Given the description of an element on the screen output the (x, y) to click on. 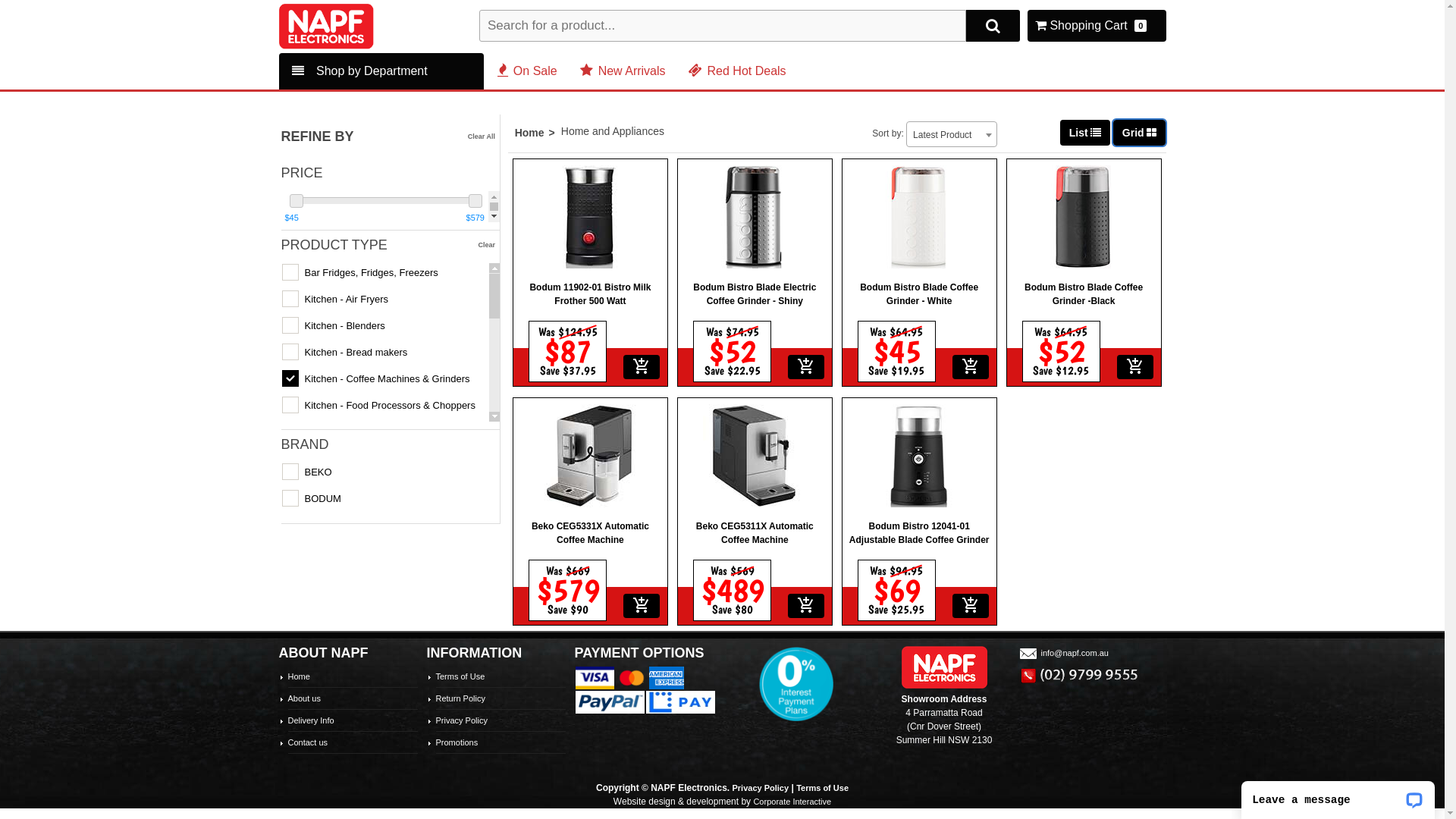
Terms of Use Element type: text (459, 675)
Privacy Policy Element type: text (760, 787)
Delivery Info Element type: text (311, 719)
add_shopping_cart Element type: text (641, 366)
Home Element type: text (537, 132)
Bodum Bistro 12041-01 Adjustable Blade Coffee Grinder Element type: text (919, 495)
Terms of Use Element type: text (822, 787)
Promotions Element type: text (456, 741)
add_shopping_cart Element type: text (1134, 366)
Privacy Policy Element type: text (460, 719)
add_shopping_cart Element type: text (805, 366)
New Arrivals Element type: text (622, 70)
add_shopping_cart Element type: text (970, 366)
Beko CEG5331X Automatic Coffee Machine Element type: text (590, 495)
add_shopping_cart Element type: text (641, 605)
Bodum Bistro Blade Coffee Grinder - White Element type: text (919, 257)
On Sale Element type: text (527, 70)
info@napf.com.au Element type: text (1062, 652)
Red Hot Deals Element type: text (737, 70)
add_shopping_cart Element type: text (970, 605)
Contact us Element type: text (308, 741)
Bodum Bistro Blade Electric Coffee Grinder - Shiny Element type: text (754, 257)
About us Element type: text (304, 697)
Bodum 11902-01 Bistro Milk Frother 500 Watt Element type: text (590, 257)
Corporate Interactive Element type: text (792, 801)
Bodum Bistro Blade Coffee Grinder -Black Element type: text (1083, 257)
Home Element type: text (299, 675)
add_shopping_cart Element type: text (805, 605)
Return Policy Element type: text (459, 697)
Beko CEG5311X Automatic Coffee Machine Element type: text (754, 495)
